Given the description of an element on the screen output the (x, y) to click on. 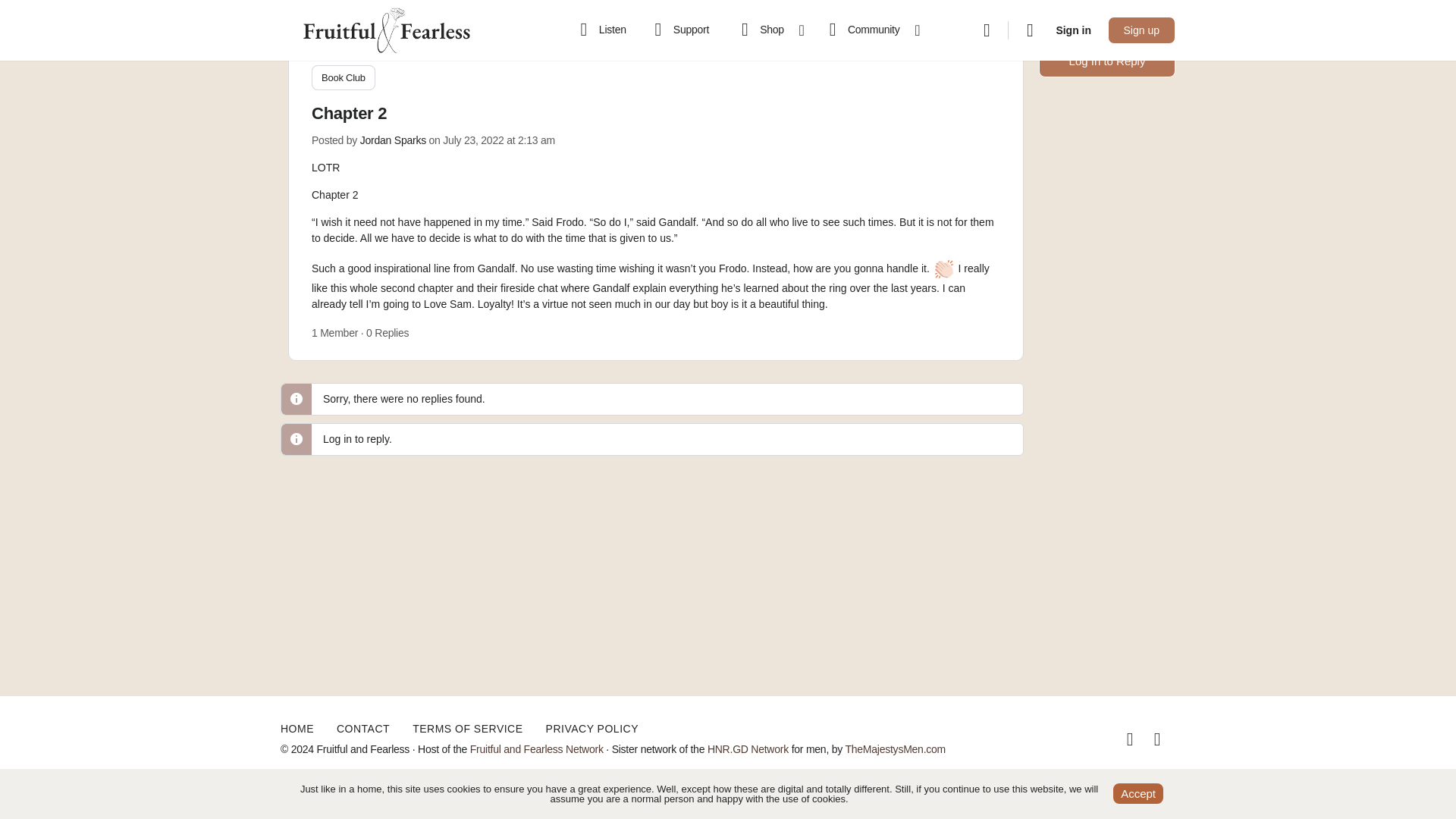
Support (679, 30)
Sign up (1141, 30)
Sign in (1073, 30)
Community (867, 30)
View Jordan Sparks's profile (392, 140)
Shop (766, 30)
Listen (600, 30)
